Given the description of an element on the screen output the (x, y) to click on. 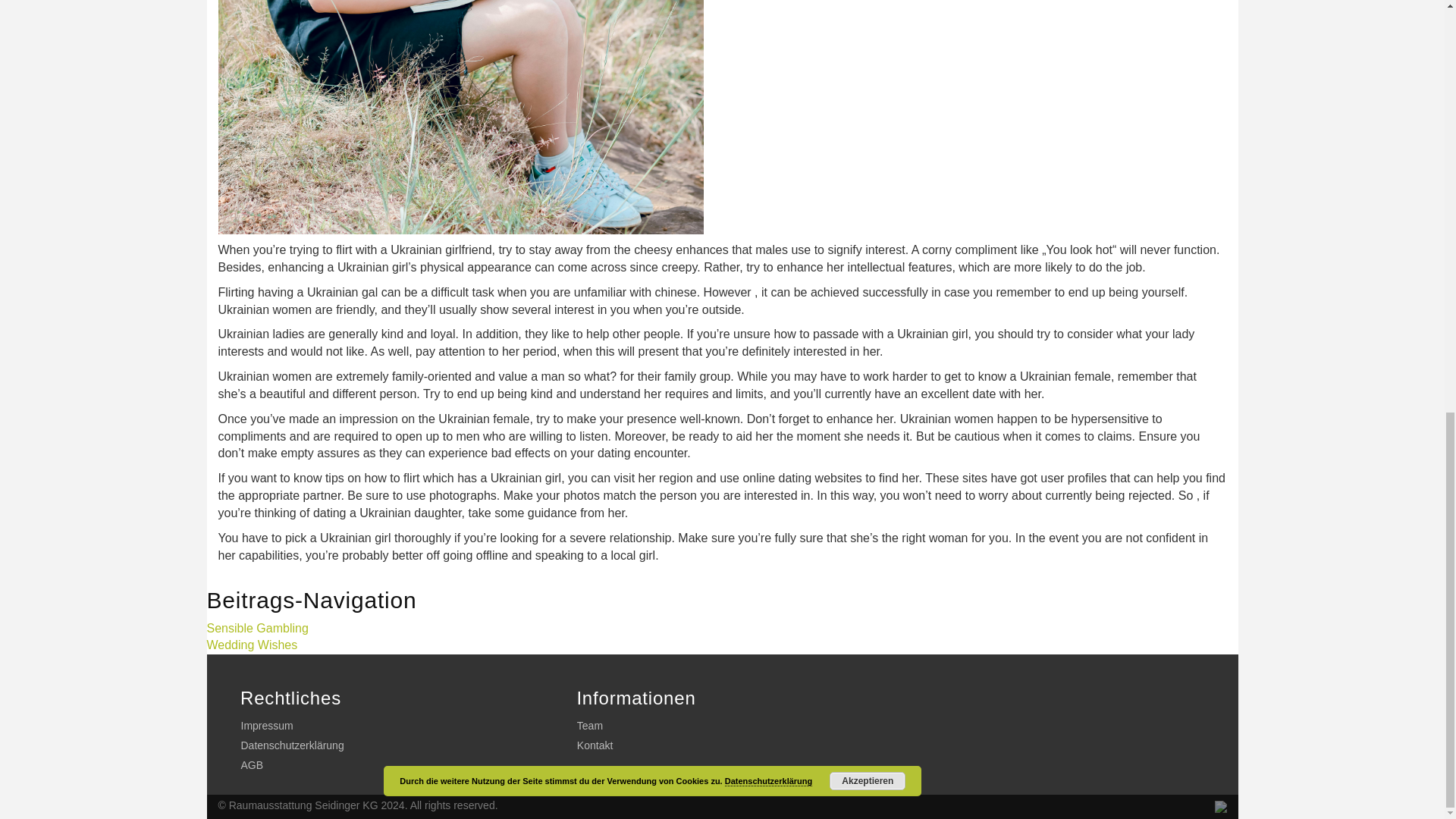
Team (584, 726)
AGB (245, 765)
Impressum (260, 726)
Kontakt (589, 745)
Wedding Wishes (251, 644)
Sensible Gambling (256, 627)
